Given the description of an element on the screen output the (x, y) to click on. 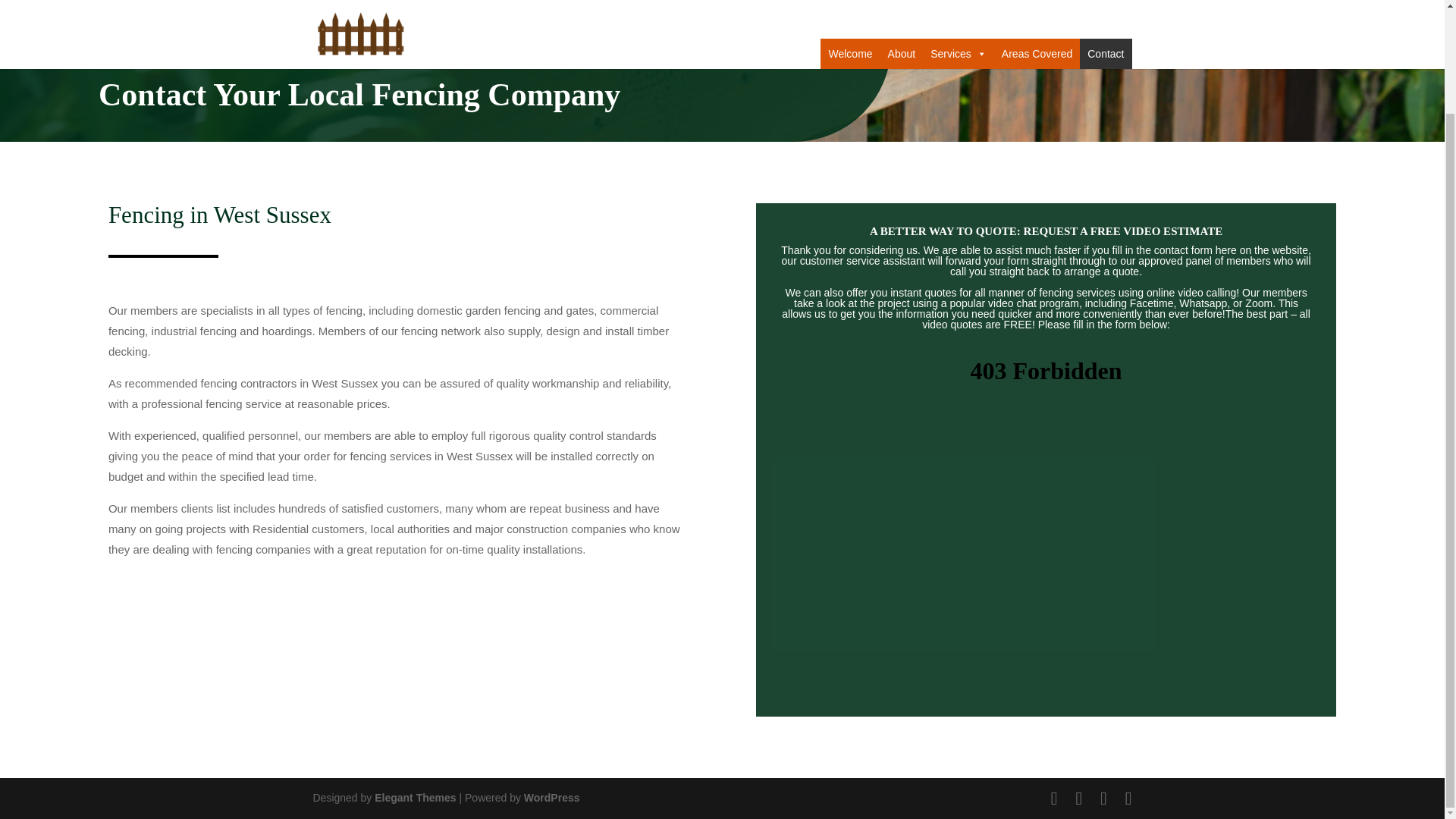
Elegant Themes (414, 797)
Premium WordPress Themes (414, 797)
WordPress (551, 797)
